Given the description of an element on the screen output the (x, y) to click on. 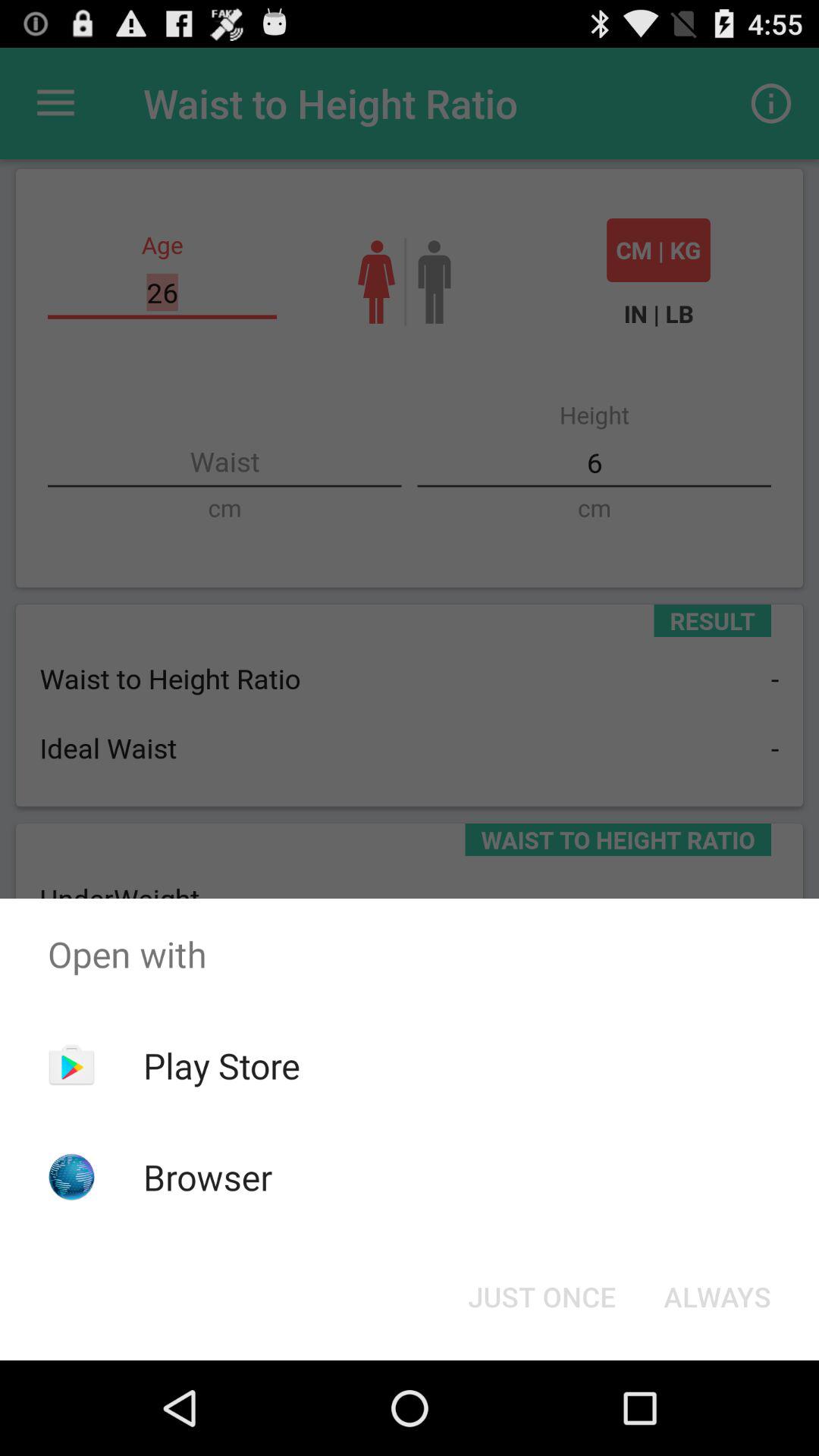
swipe until the browser icon (207, 1176)
